Given the description of an element on the screen output the (x, y) to click on. 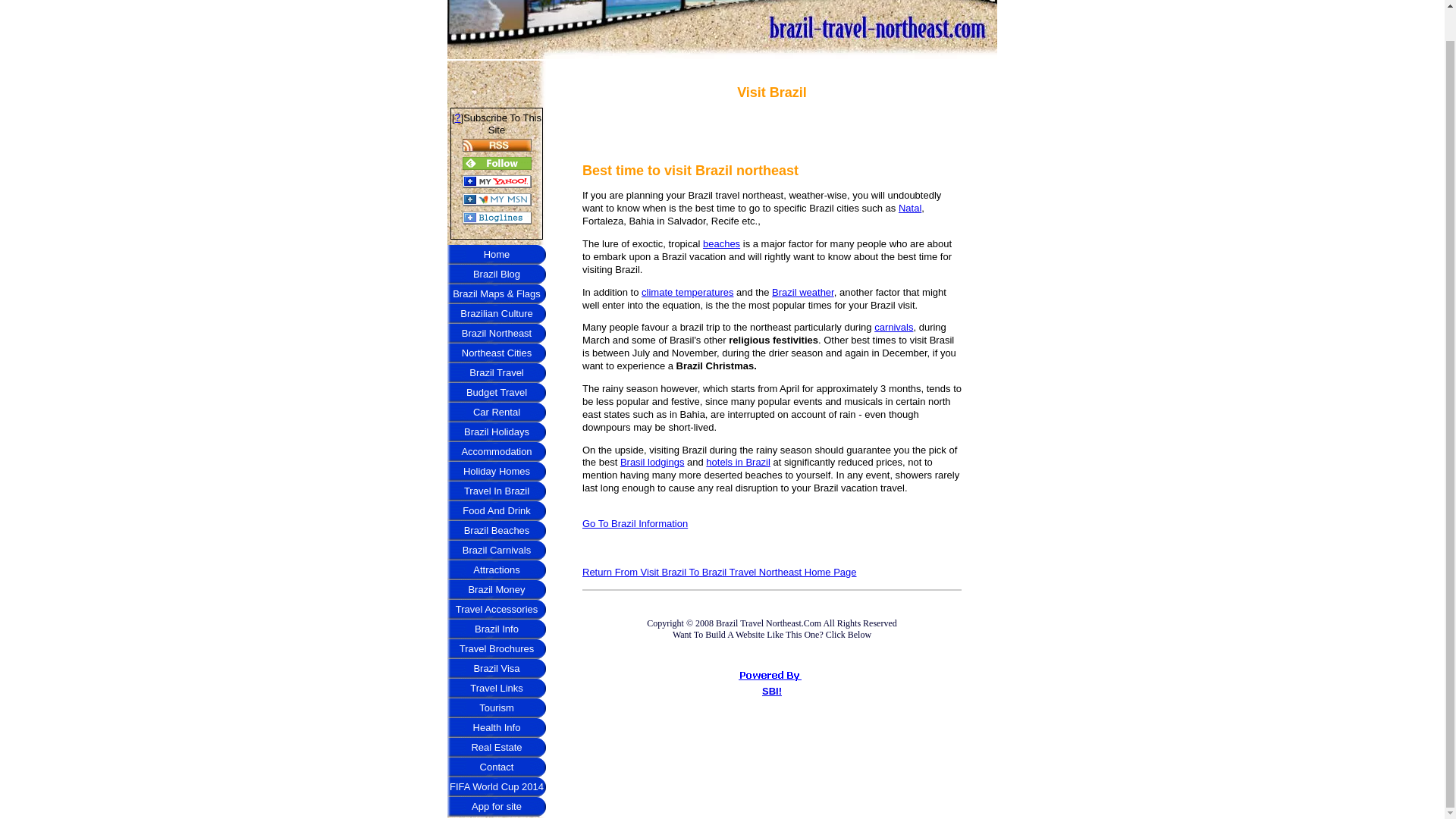
Food And Drink (496, 510)
Brazil Blog (496, 274)
Brazil Info (496, 629)
Tourism (496, 708)
Travel Brochures (496, 649)
Brazil Travel (496, 373)
carnivals (893, 326)
Budget Travel (496, 392)
Travel Links (496, 688)
beaches (721, 243)
